Given the description of an element on the screen output the (x, y) to click on. 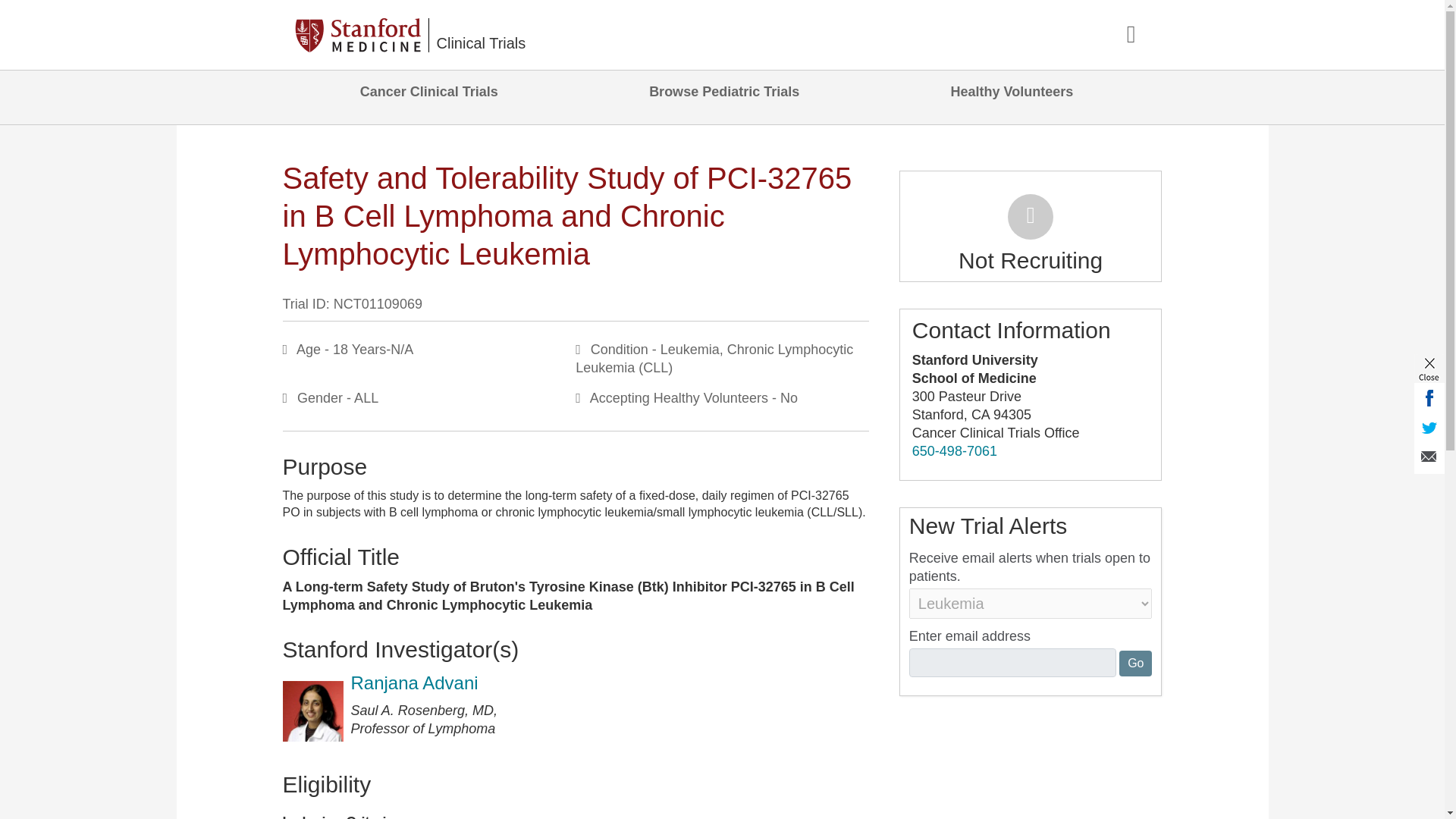
Clinical Trials (480, 35)
Stanford Medicine (361, 35)
